Given the description of an element on the screen output the (x, y) to click on. 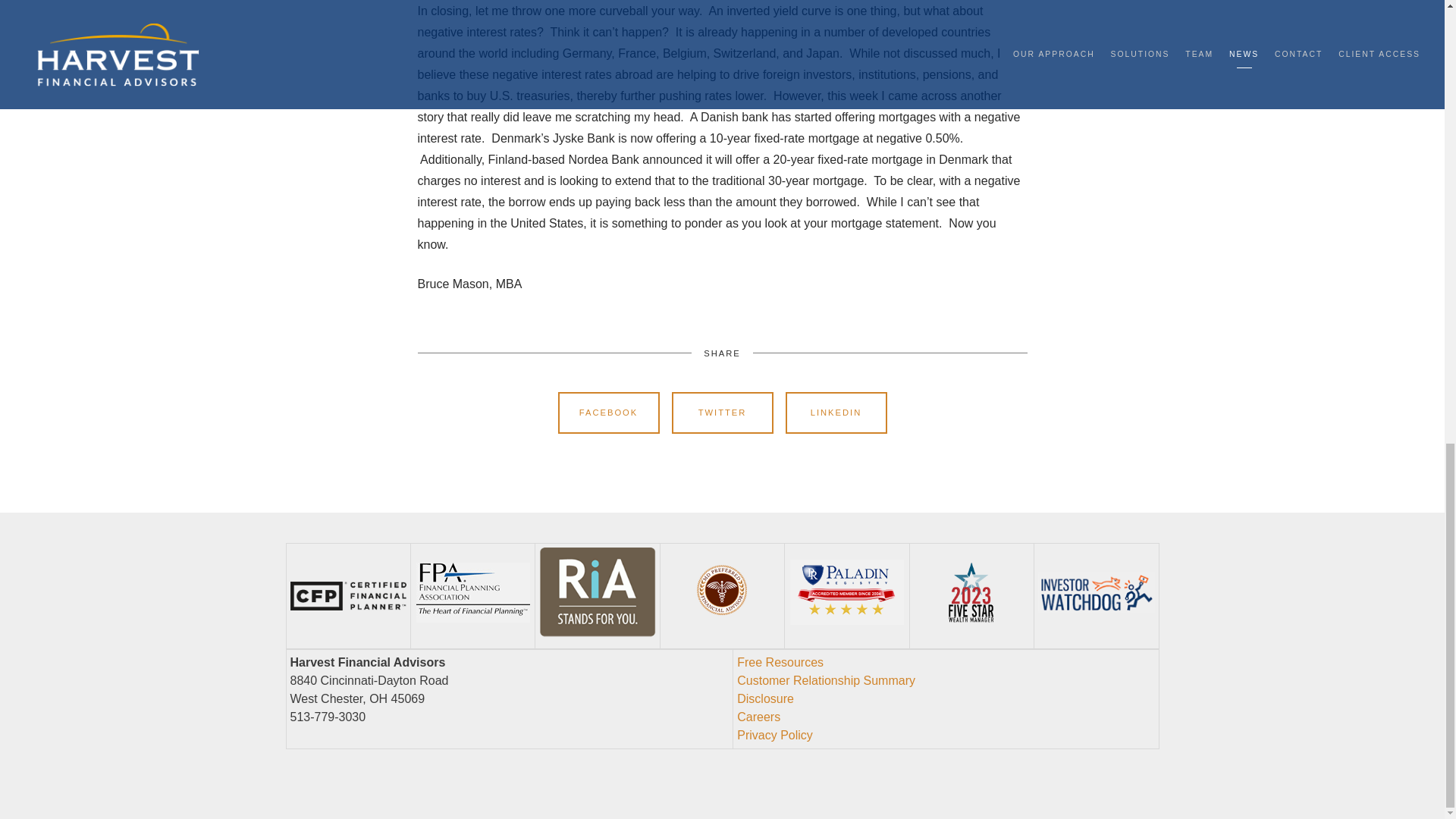
Free Resources (780, 662)
Careers (758, 716)
TWITTER (722, 413)
Privacy Policy (774, 735)
Customer Relationship Summary (825, 680)
Disclosure (764, 698)
LINKEDIN (836, 413)
FACEBOOK (608, 413)
